Given the description of an element on the screen output the (x, y) to click on. 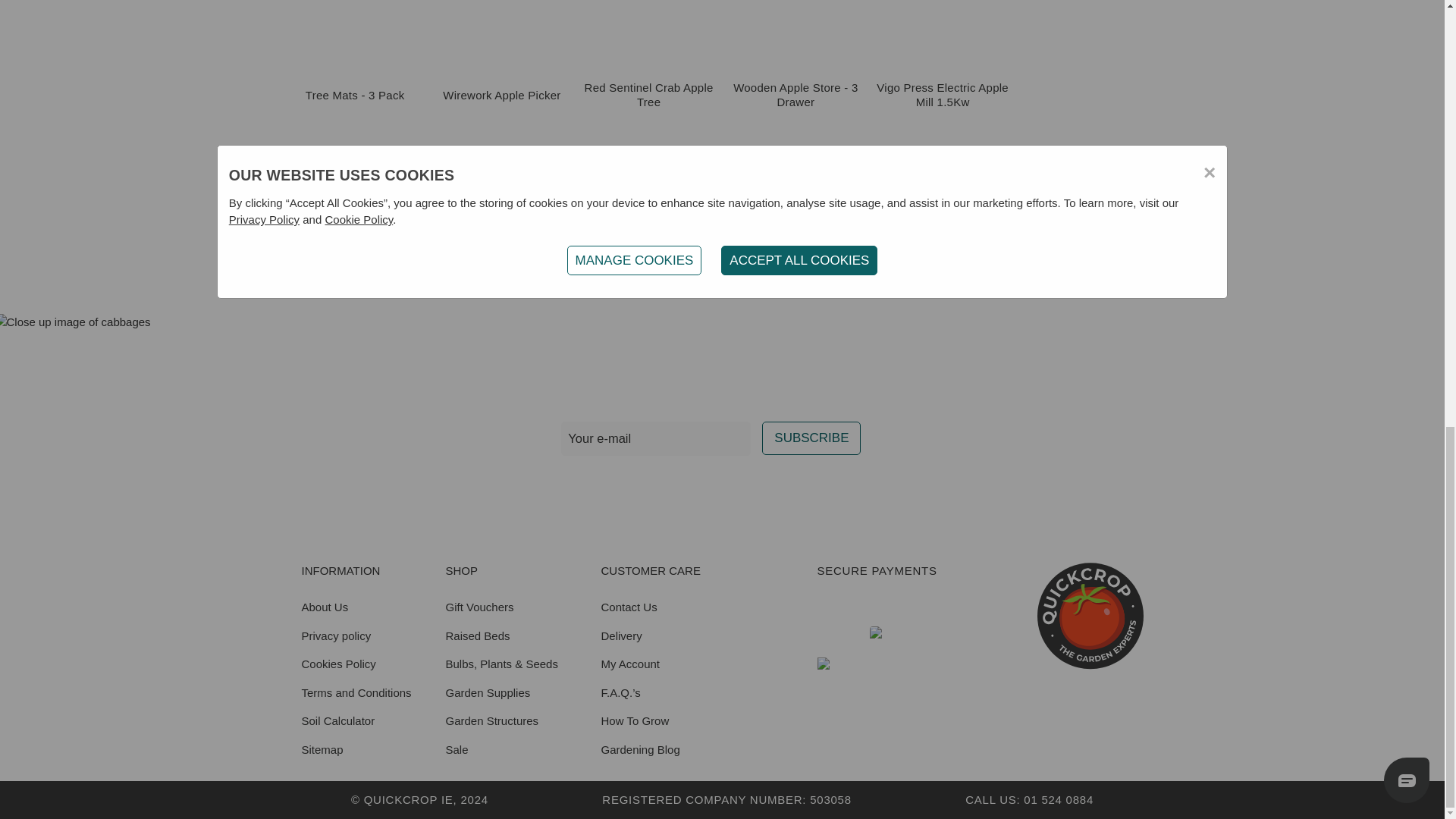
Subscribe (810, 438)
Red Sentinel Crab apple tree (648, 14)
electric apple mill (942, 14)
instagram link (667, 488)
Wirework apple picker for harvesting apples from trees (501, 14)
facebook link (631, 488)
wooden storage unit without fruit or vegetables open (795, 14)
Tree mats provide protection to young trees and saplings (354, 14)
